Given the description of an element on the screen output the (x, y) to click on. 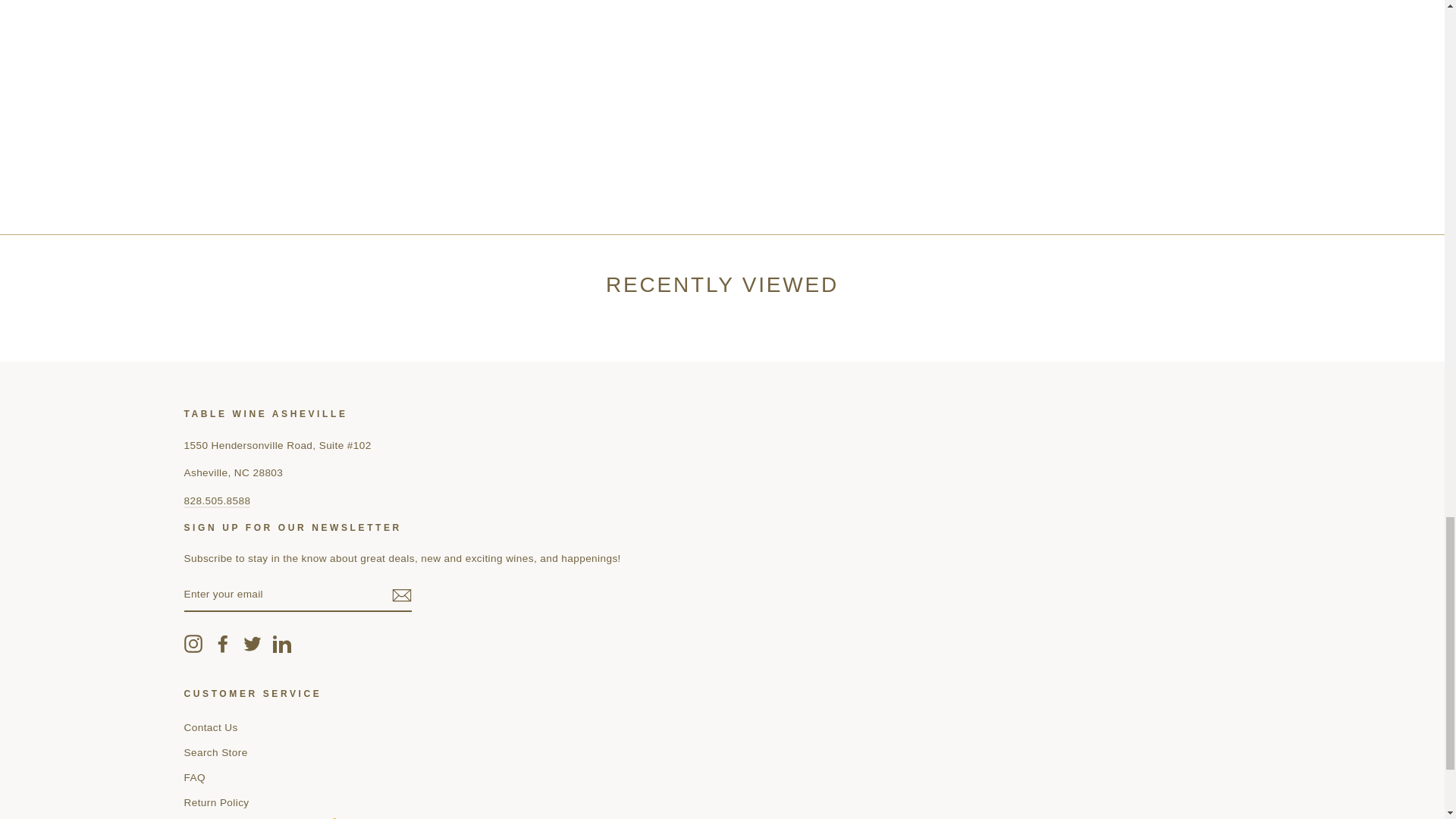
Table Wine Asheville on Instagram (192, 643)
Table Wine Asheville on LinkedIn (282, 643)
Table Wine Asheville on Twitter (251, 643)
Table Wine Asheville on Facebook (222, 643)
tel:828.505.8588 (216, 501)
